Given the description of an element on the screen output the (x, y) to click on. 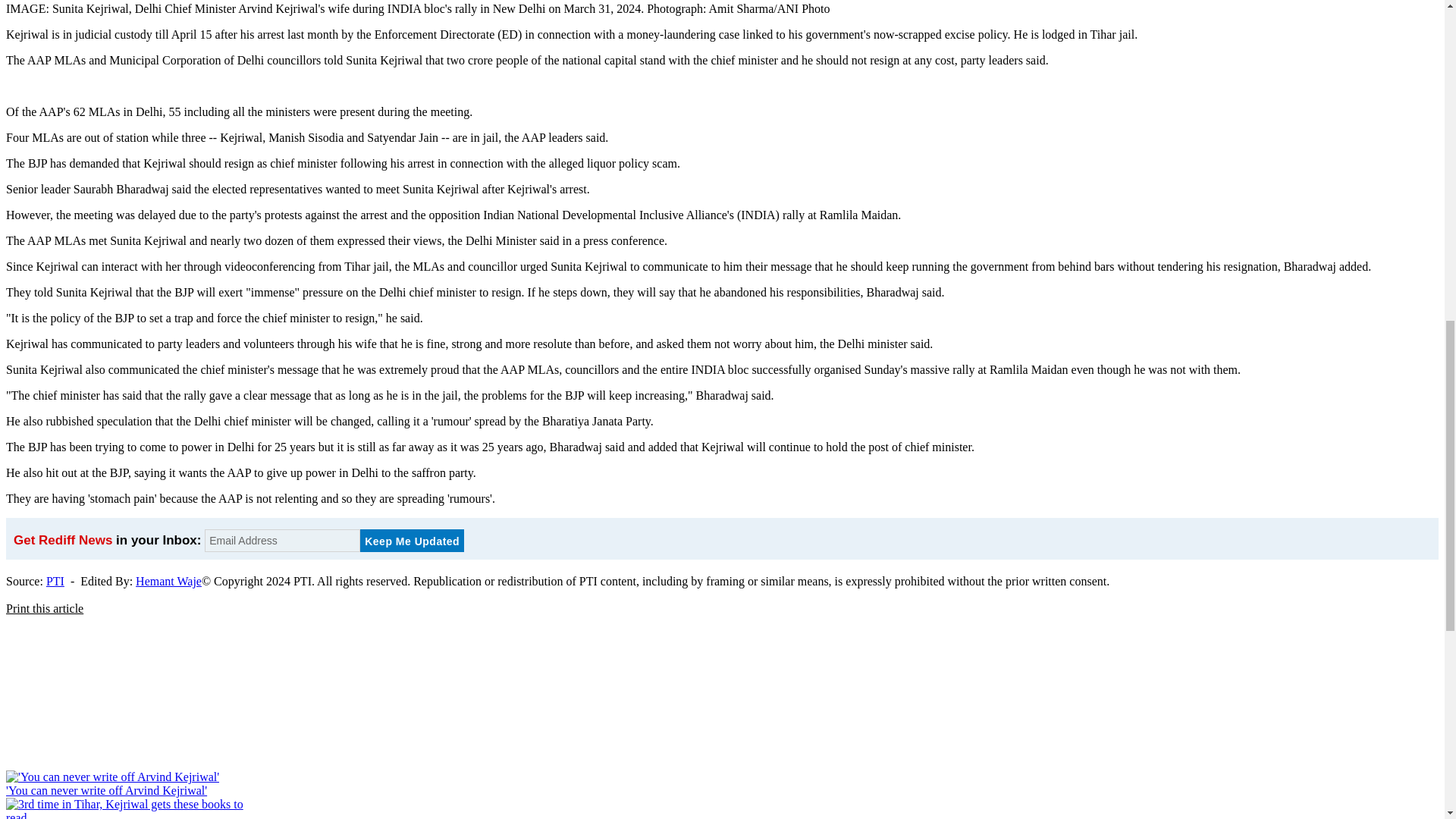
PTI (55, 581)
Keep Me Updated (411, 540)
Hemant Waje (168, 581)
'You can never write off Arvind Kejriwal' (105, 789)
Email Address (282, 540)
'You can never write off Arvind Kejriwal' (105, 789)
